Given the description of an element on the screen output the (x, y) to click on. 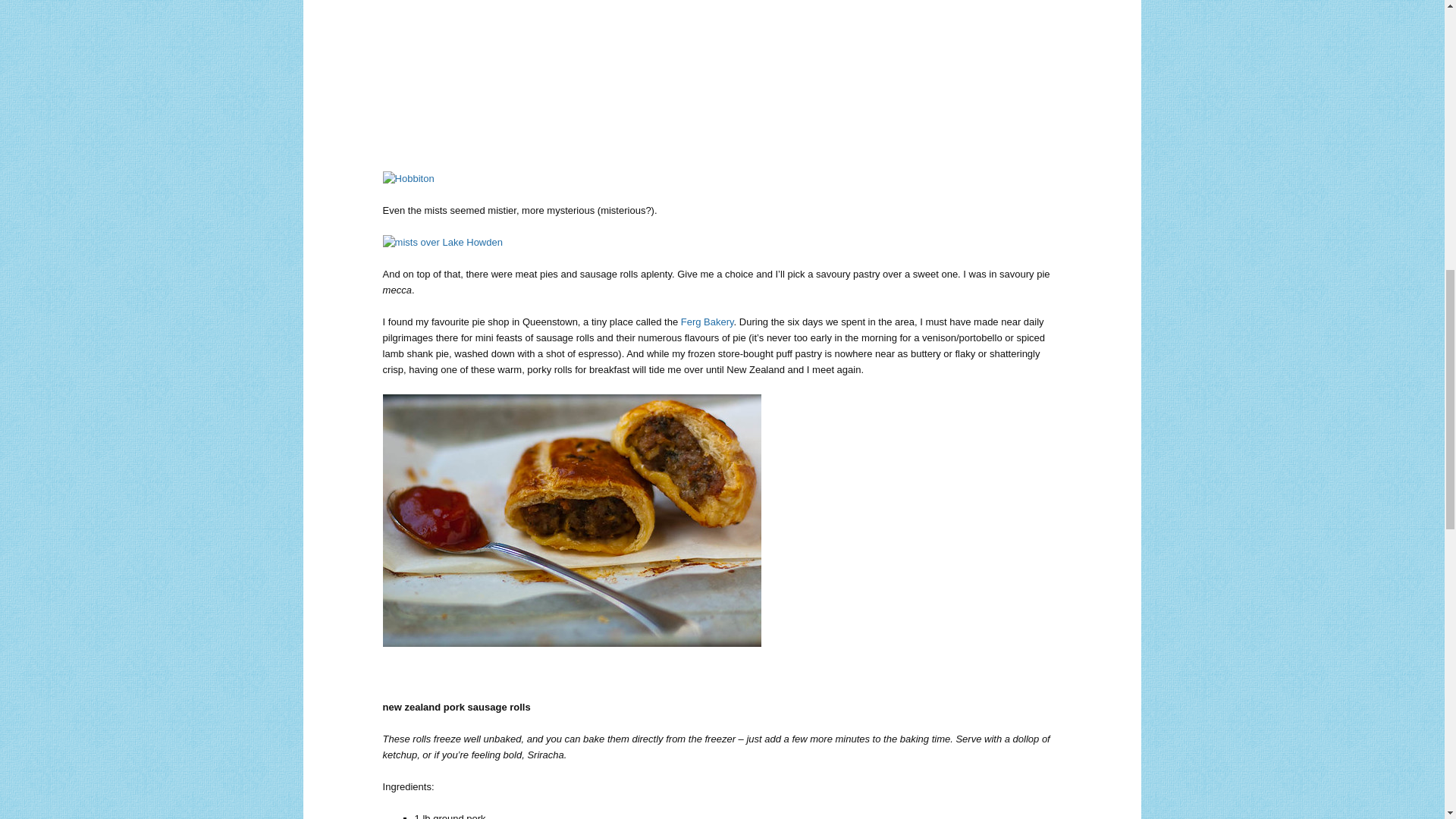
Hobbiton by liminaldreams, on Flickr (407, 178)
Ferg Bakery (707, 321)
Routeburn by liminaldreams, on Flickr (571, 162)
mists over Lake Howden by liminaldreams, on Flickr (442, 242)
